Given the description of an element on the screen output the (x, y) to click on. 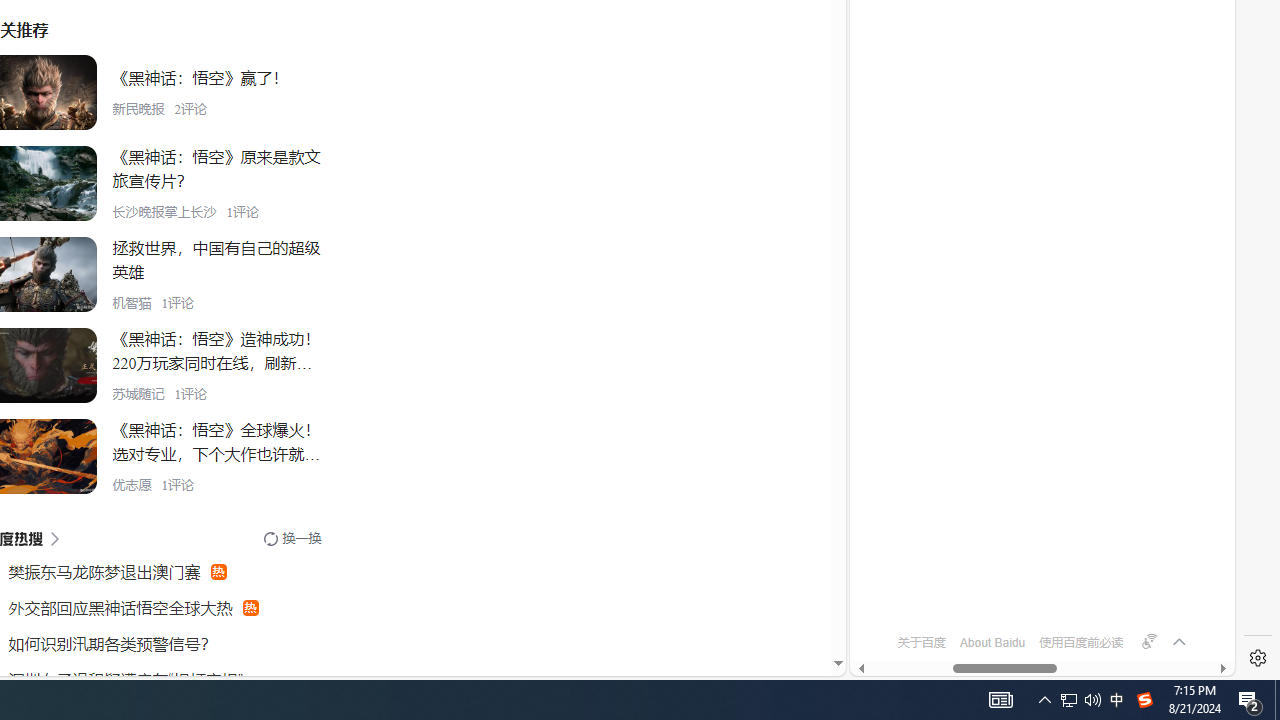
About Baidu (992, 642)
Actions for this site (1149, 184)
OFTV (1034, 587)
